Given the description of an element on the screen output the (x, y) to click on. 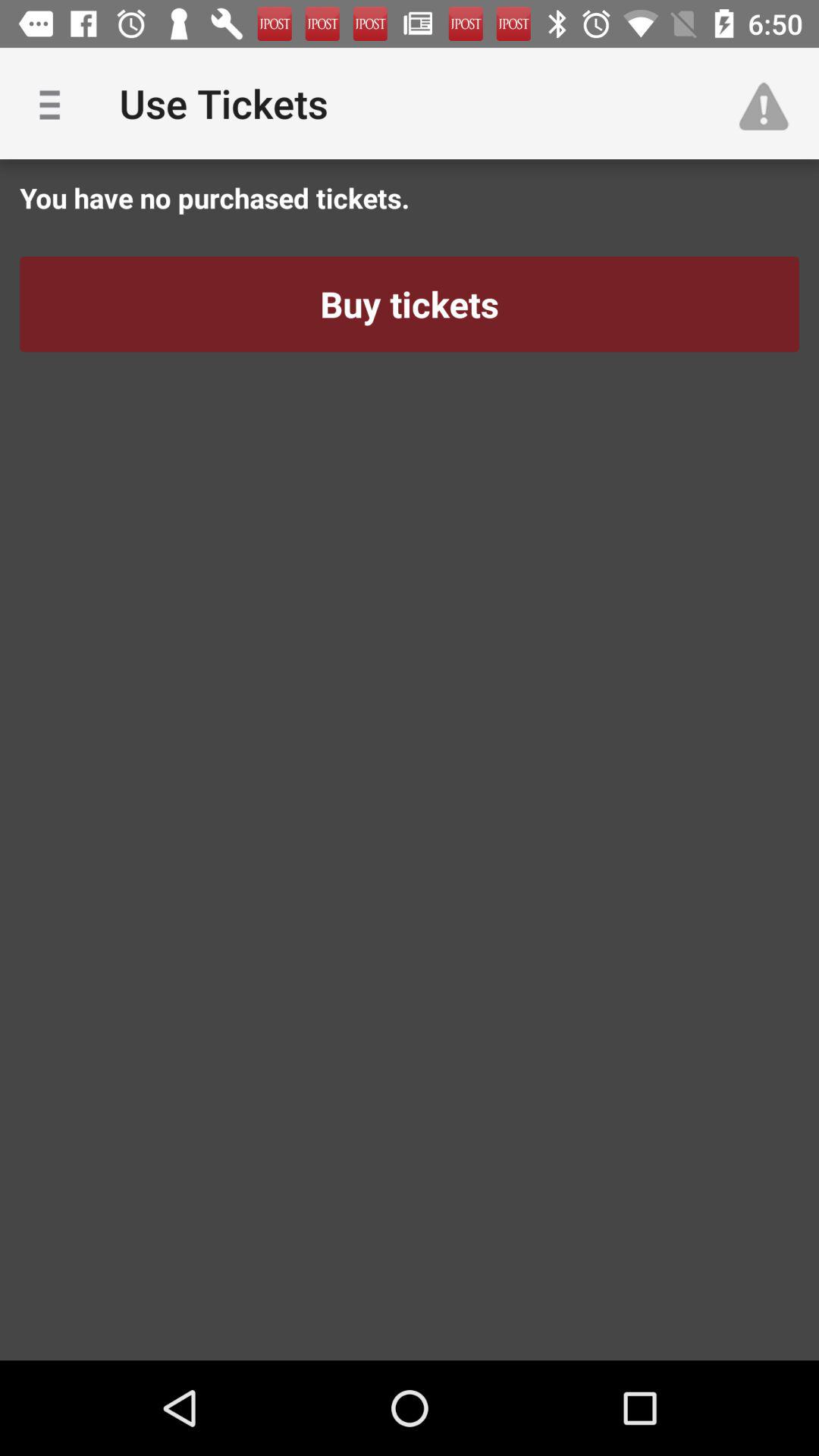
turn on app to the right of the use tickets (771, 103)
